Given the description of an element on the screen output the (x, y) to click on. 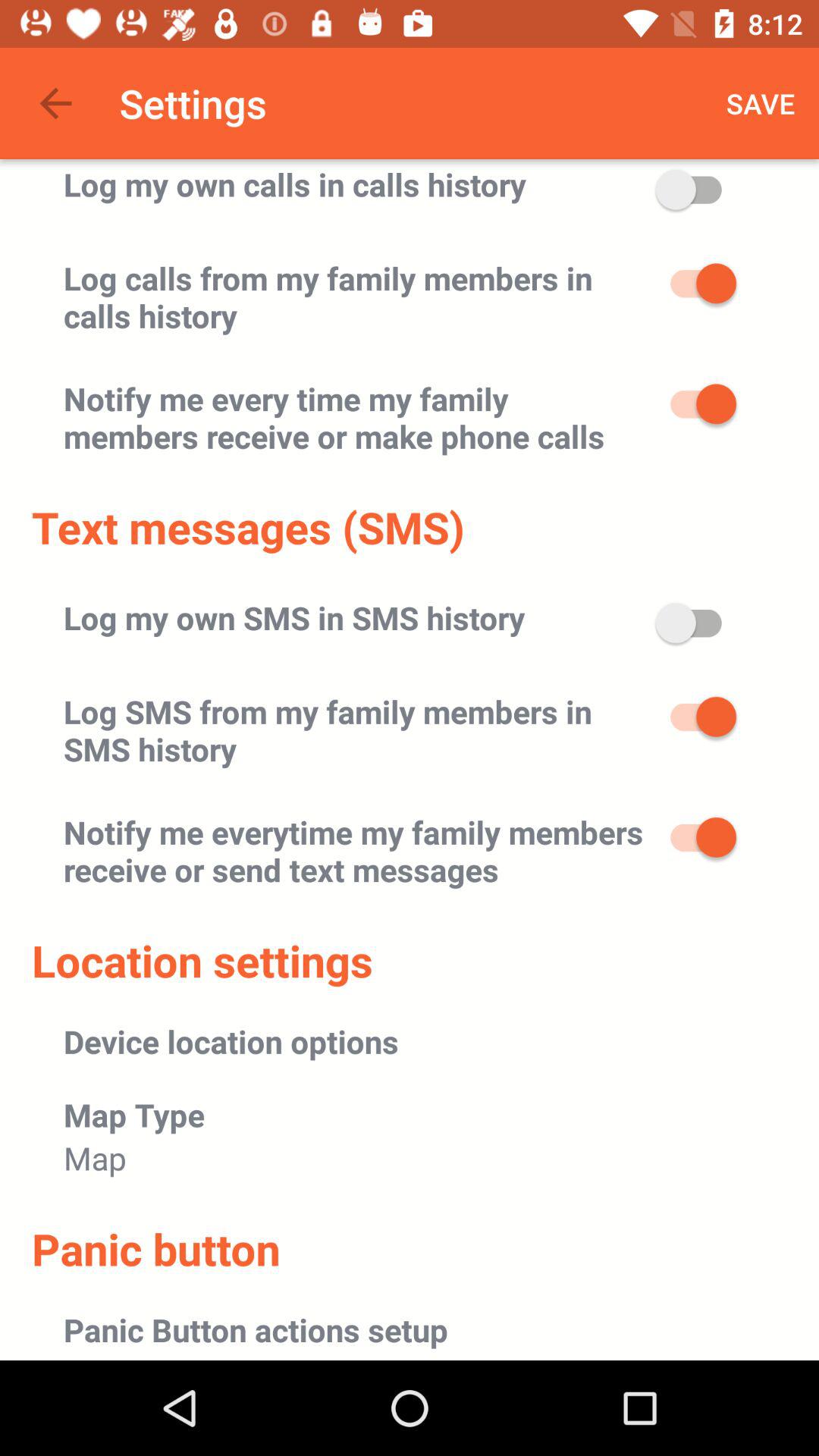
open icon next to log my own item (760, 103)
